Given the description of an element on the screen output the (x, y) to click on. 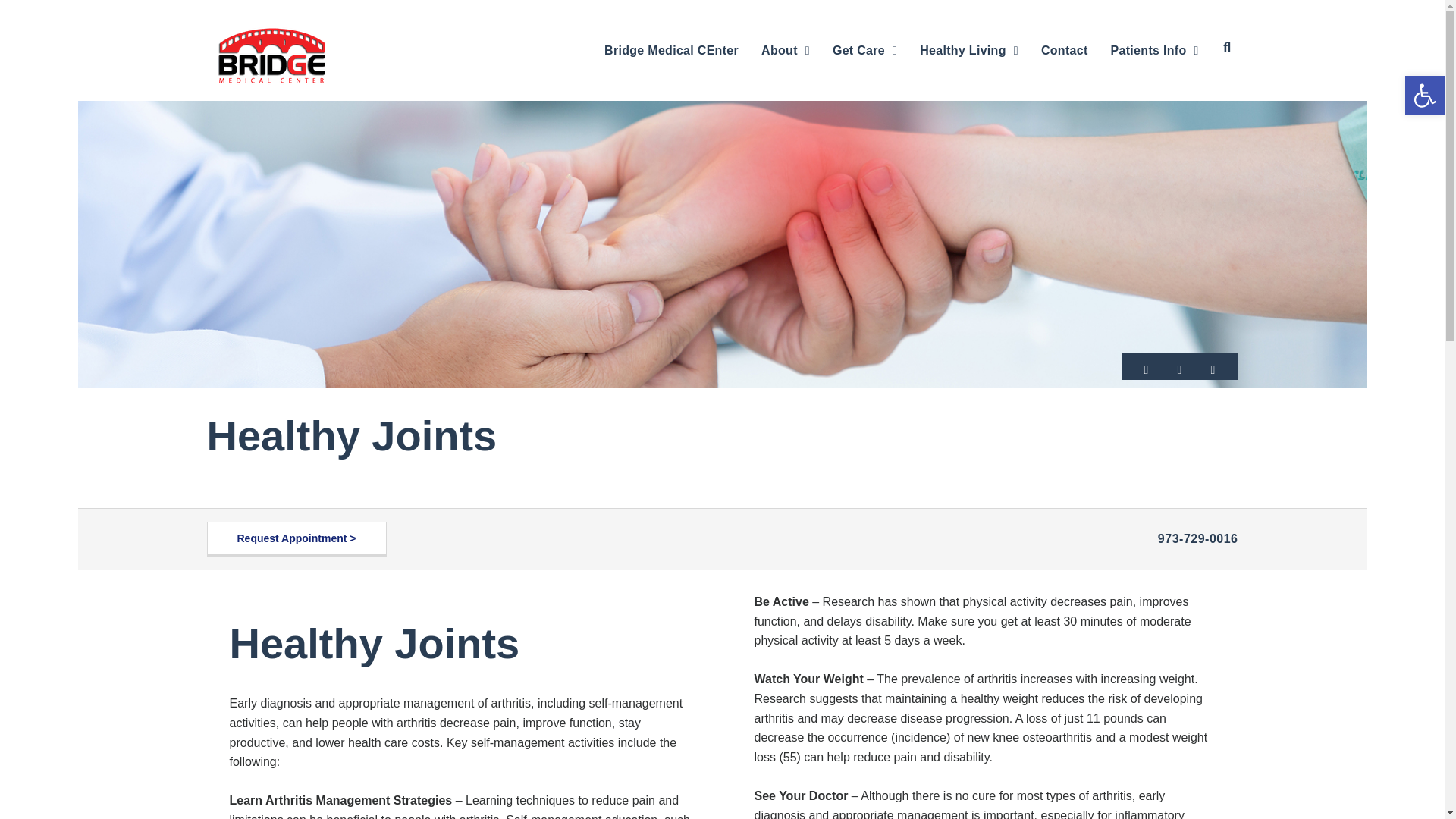
Healthy Living (969, 49)
Contact (1064, 49)
Bridge Medical CEnter (670, 49)
Get Care (864, 49)
About (785, 49)
Patients Info (1155, 49)
Accessibility Tools (1424, 95)
